Given the description of an element on the screen output the (x, y) to click on. 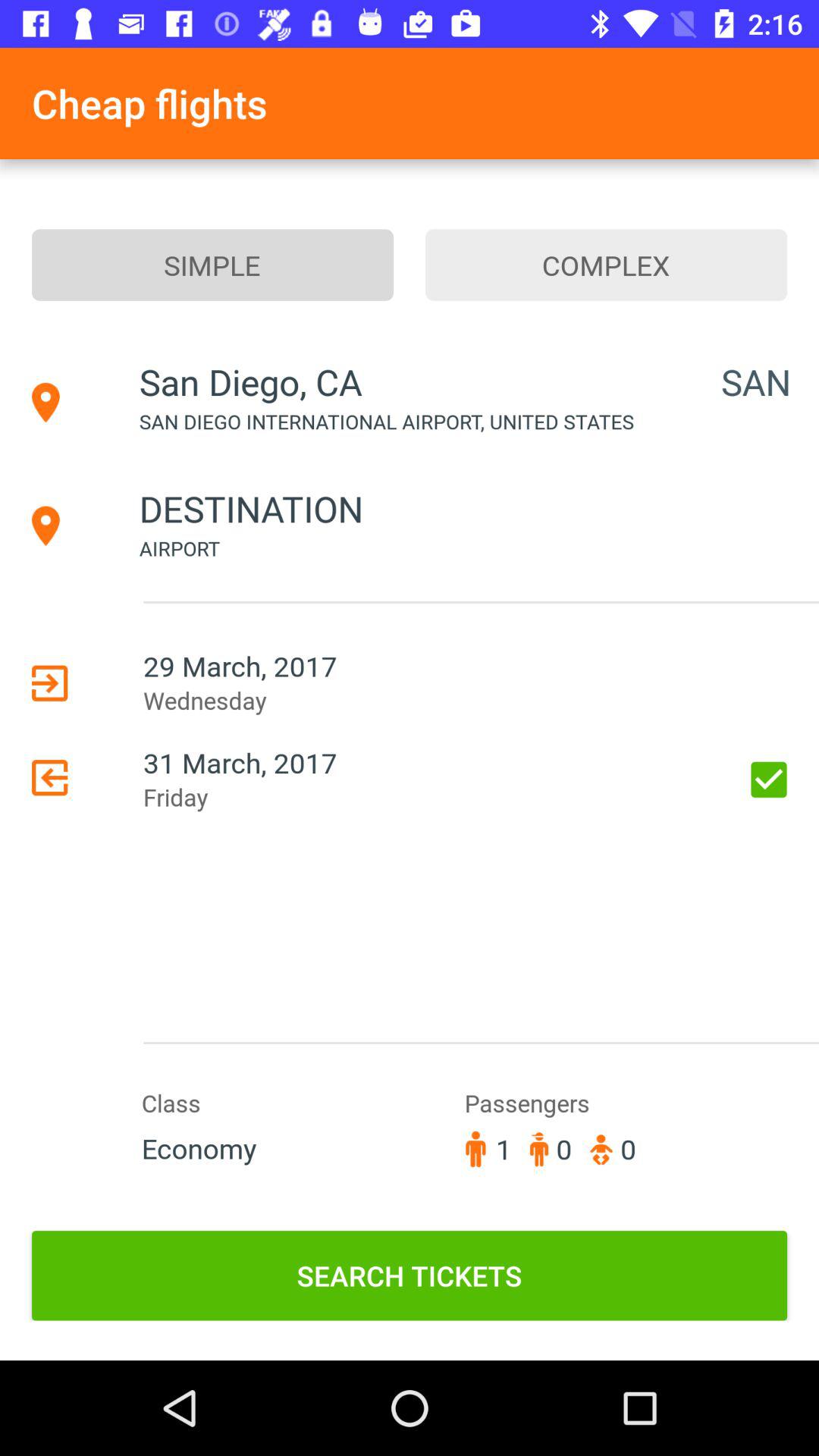
scroll to the search tickets (409, 1275)
